Given the description of an element on the screen output the (x, y) to click on. 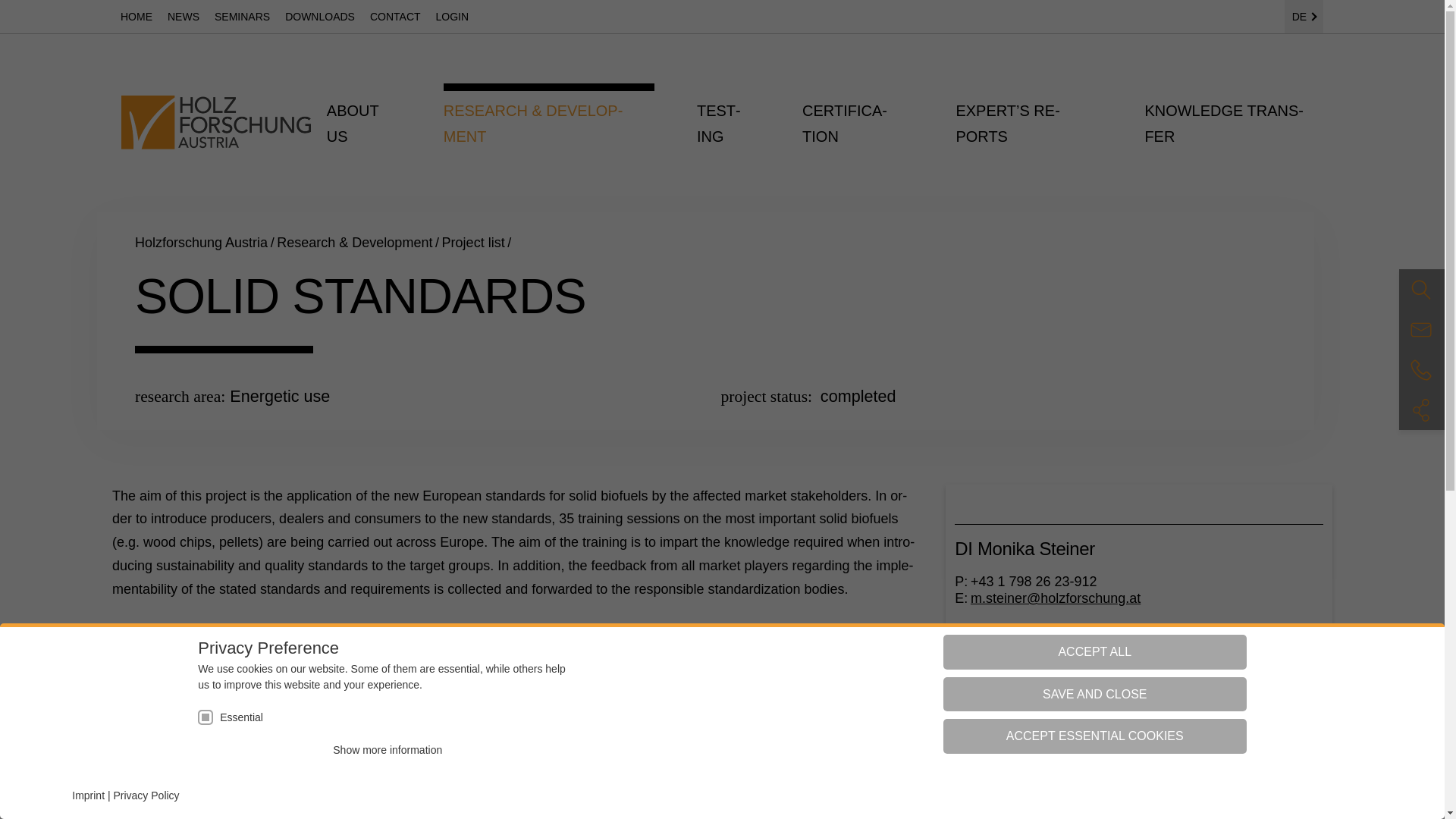
Homepage (201, 242)
DE (1303, 16)
NEWS (183, 15)
Find out about our current and completed research projects. (473, 242)
HOME (136, 15)
